Given the description of an element on the screen output the (x, y) to click on. 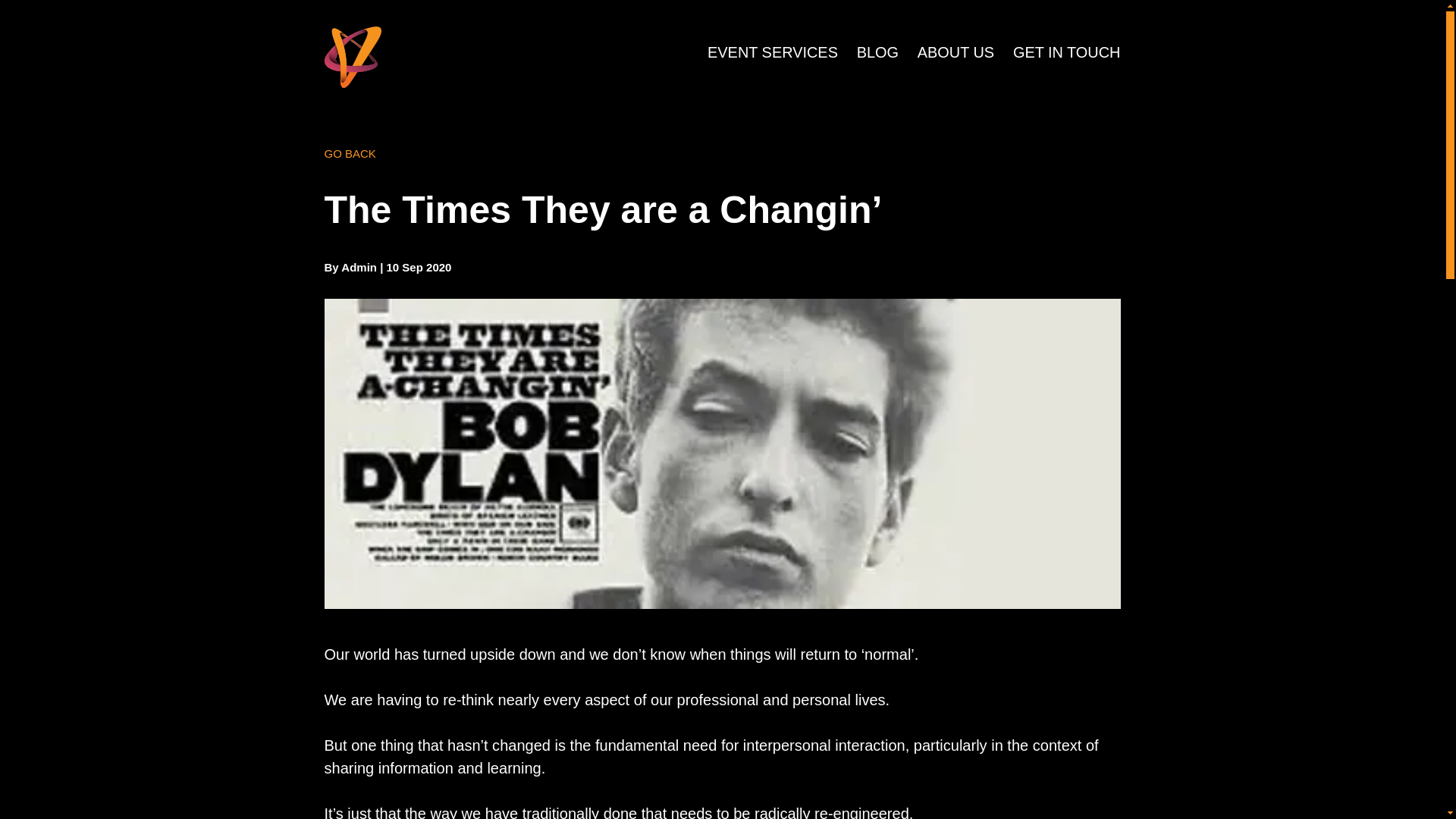
ABOUT US (955, 52)
GET IN TOUCH (1067, 52)
Admin (358, 267)
GO BACK (349, 153)
EVENT SERVICES (772, 52)
Posts by Admin (358, 267)
